Given the description of an element on the screen output the (x, y) to click on. 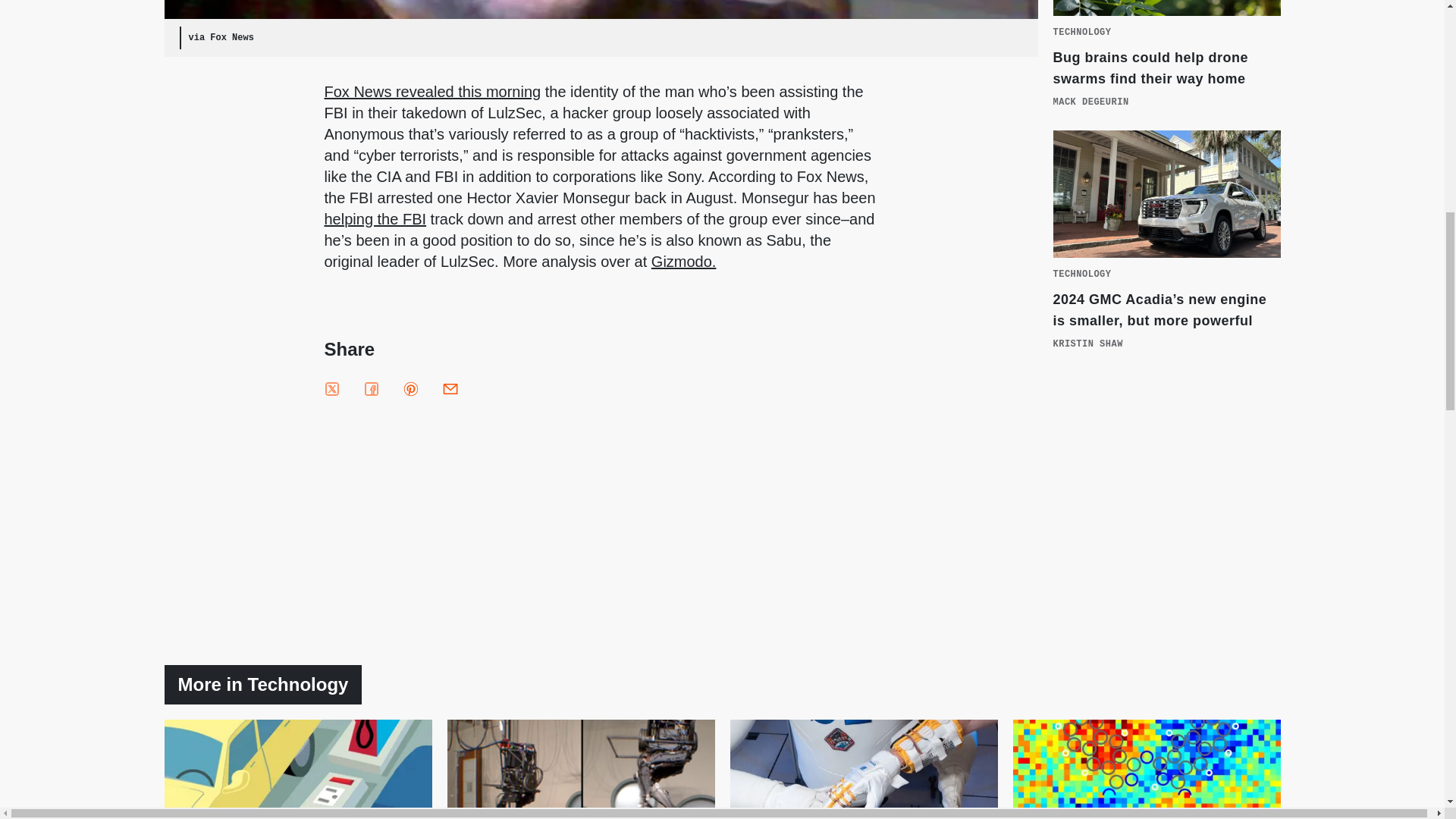
3rd party ad content (1165, 509)
